Given the description of an element on the screen output the (x, y) to click on. 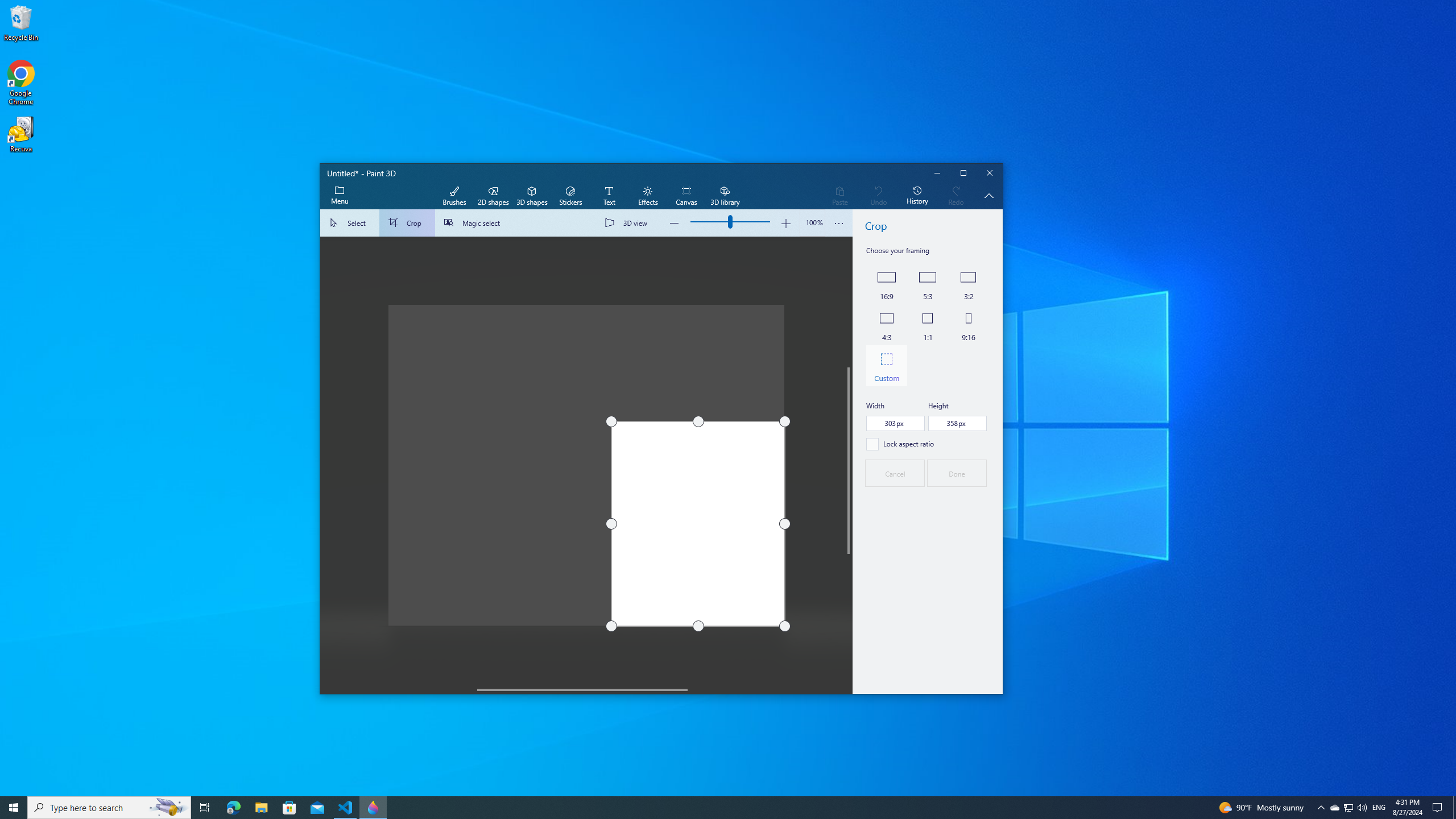
History (917, 195)
Zoom slider (812, 222)
1 by 1 (927, 324)
